Given the description of an element on the screen output the (x, y) to click on. 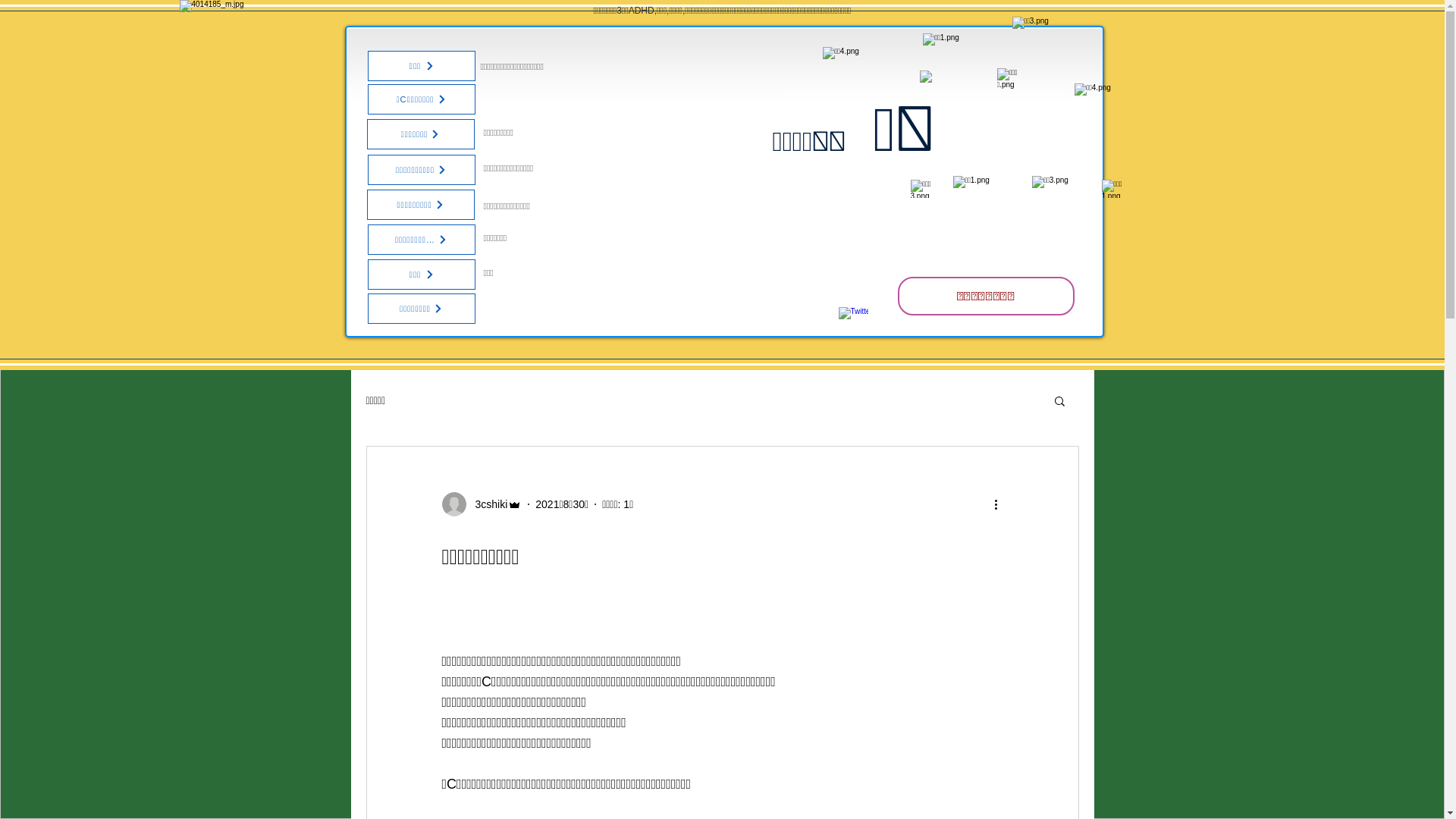
3cshiki Element type: text (481, 504)
